Given the description of an element on the screen output the (x, y) to click on. 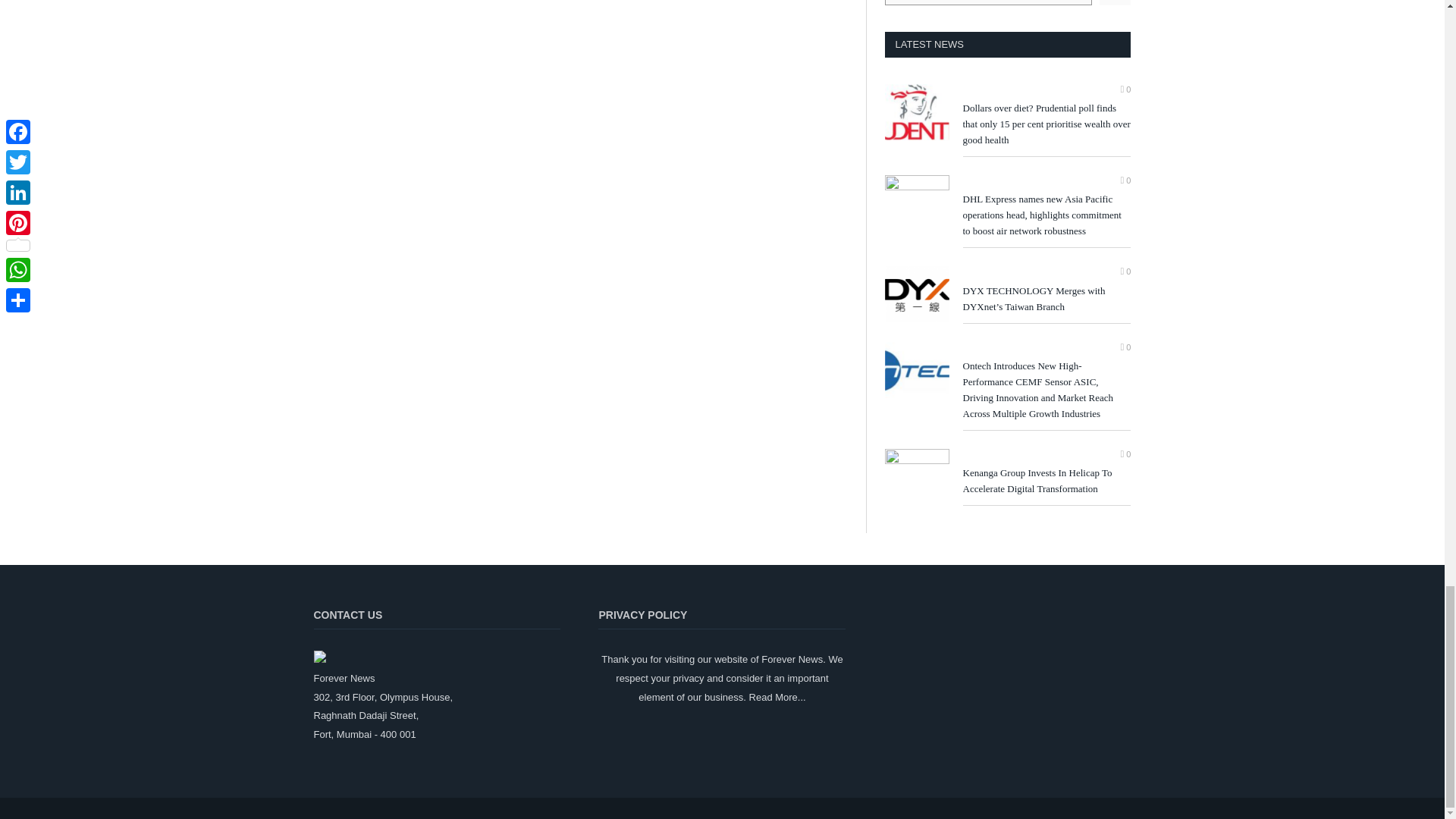
Search (1115, 2)
